Given the description of an element on the screen output the (x, y) to click on. 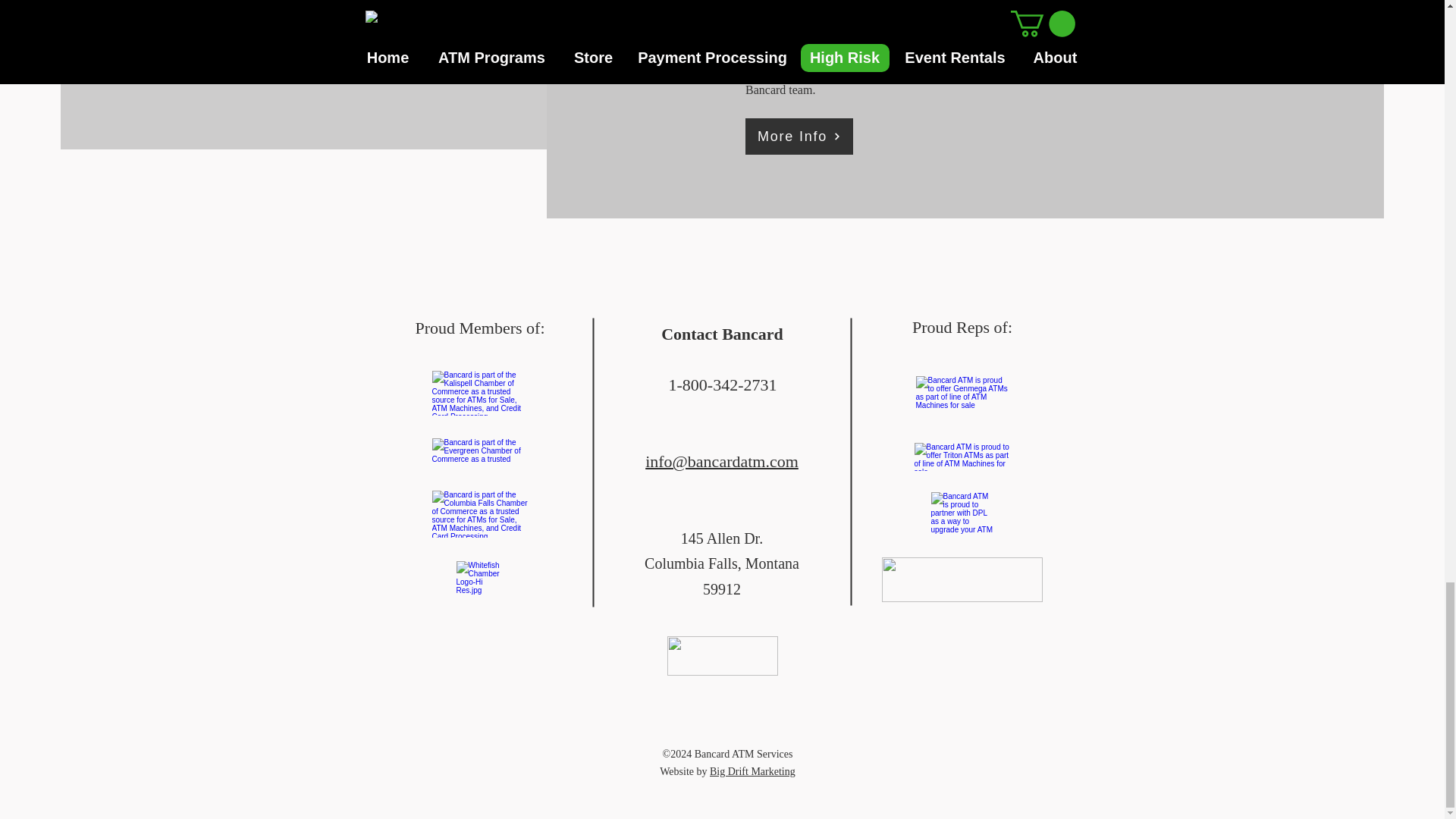
Columbia Falls Chamber of Commerce (480, 513)
DPL Wireless (962, 514)
Big Drift Marketing (752, 771)
Triton ATM (962, 456)
Vita Lansworth Logo.png (721, 655)
More Info (799, 135)
Evergreen Chamber of Commerce (480, 450)
NCR Partner Network Logo.png (961, 579)
Genmega ATM (962, 392)
Kalispell Chamber of Commerce (480, 393)
